Given the description of an element on the screen output the (x, y) to click on. 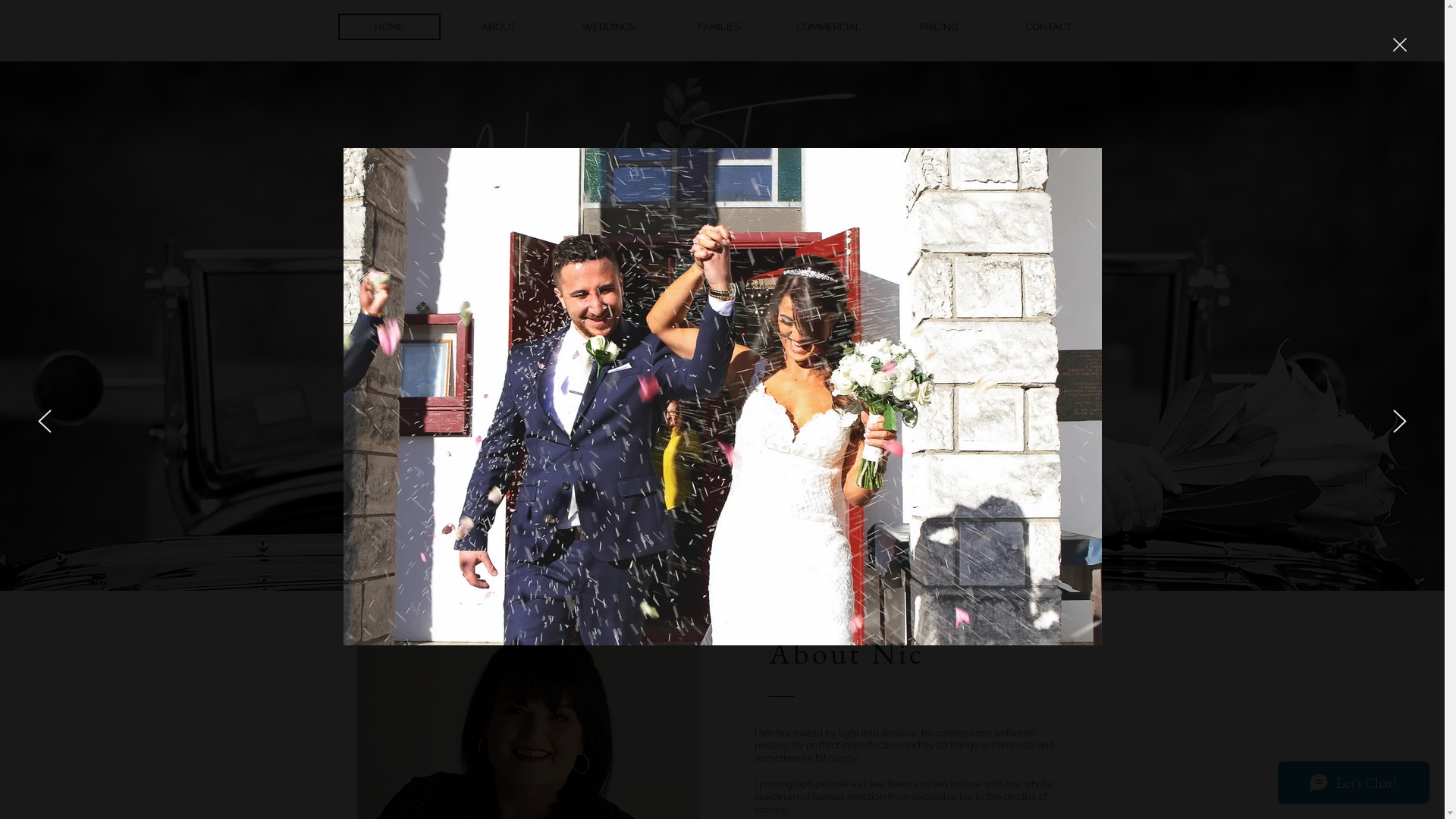
CONTACT Element type: text (1048, 26)
HOME Element type: text (389, 26)
COMMERCIAL Element type: text (829, 26)
FAMILIES Element type: text (718, 26)
logoclear.png Element type: hover (721, 159)
ABOUT Element type: text (498, 26)
WEDDINGS Element type: text (609, 26)
PRICING Element type: text (938, 26)
